Given the description of an element on the screen output the (x, y) to click on. 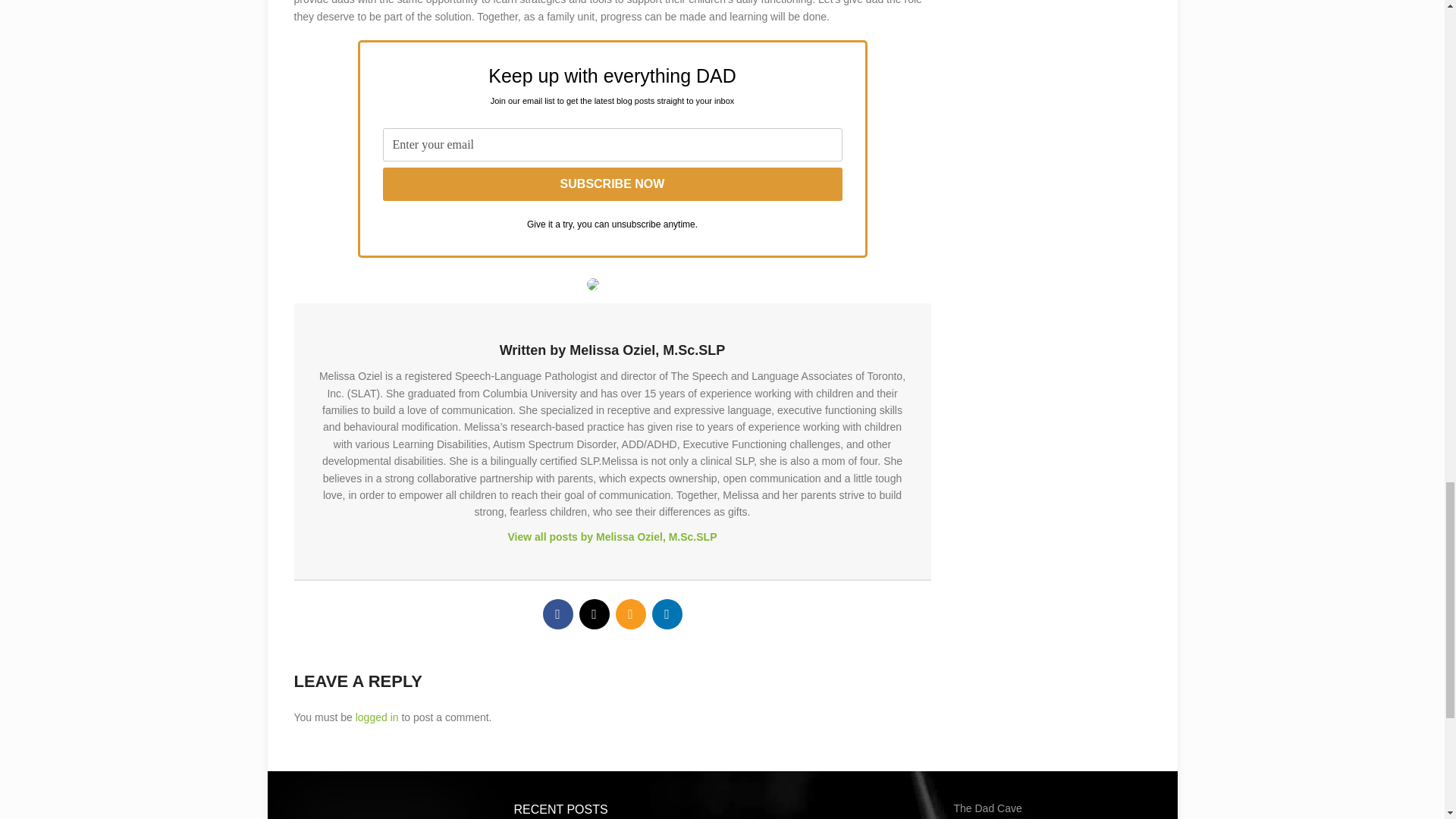
Subscribe Now (611, 183)
Subscribe Now (611, 183)
logged in (376, 717)
View all posts by Melissa Oziel, M.Sc.SLP (612, 536)
